Given the description of an element on the screen output the (x, y) to click on. 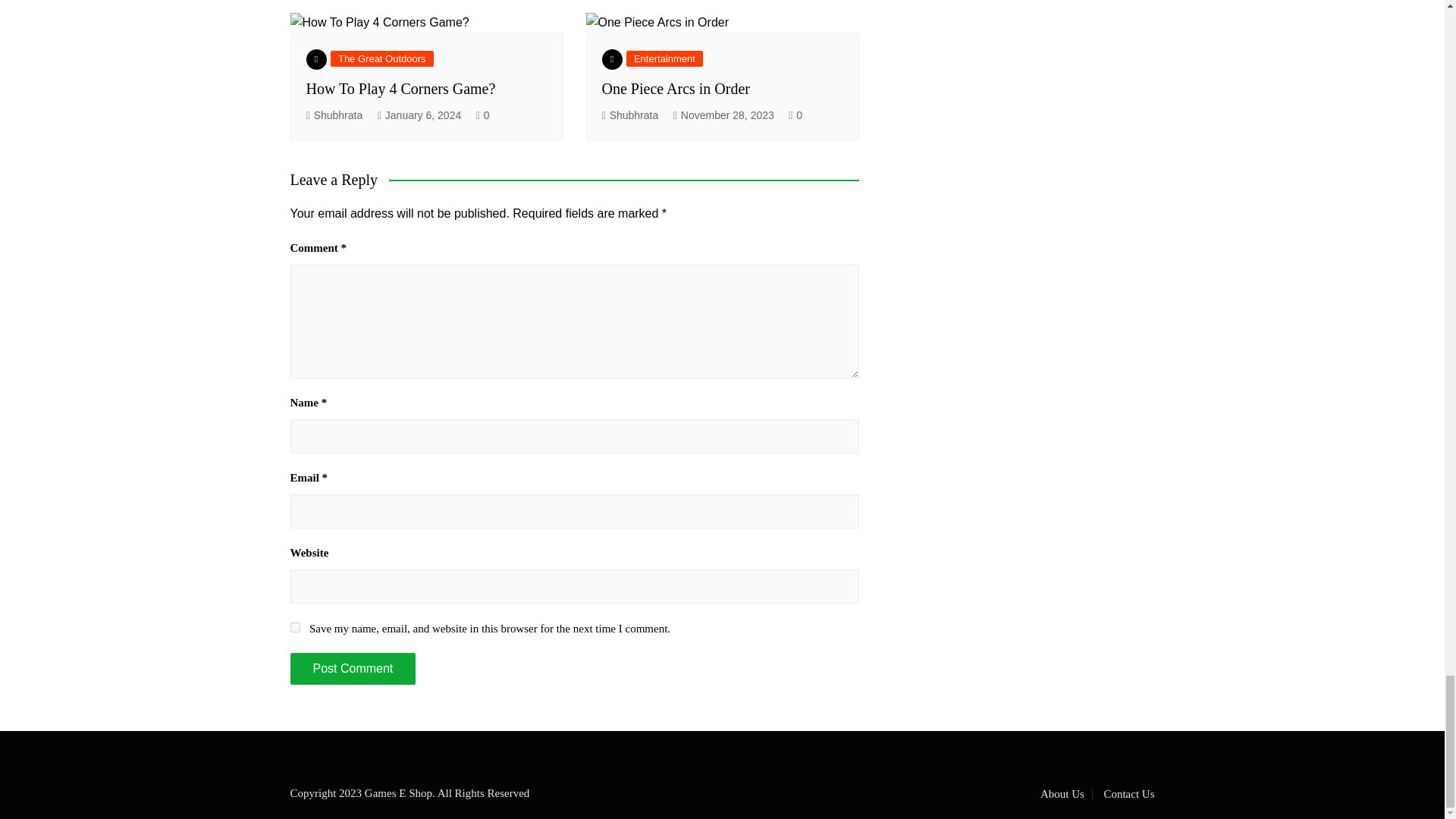
yes (294, 627)
Post Comment (351, 668)
